Given the description of an element on the screen output the (x, y) to click on. 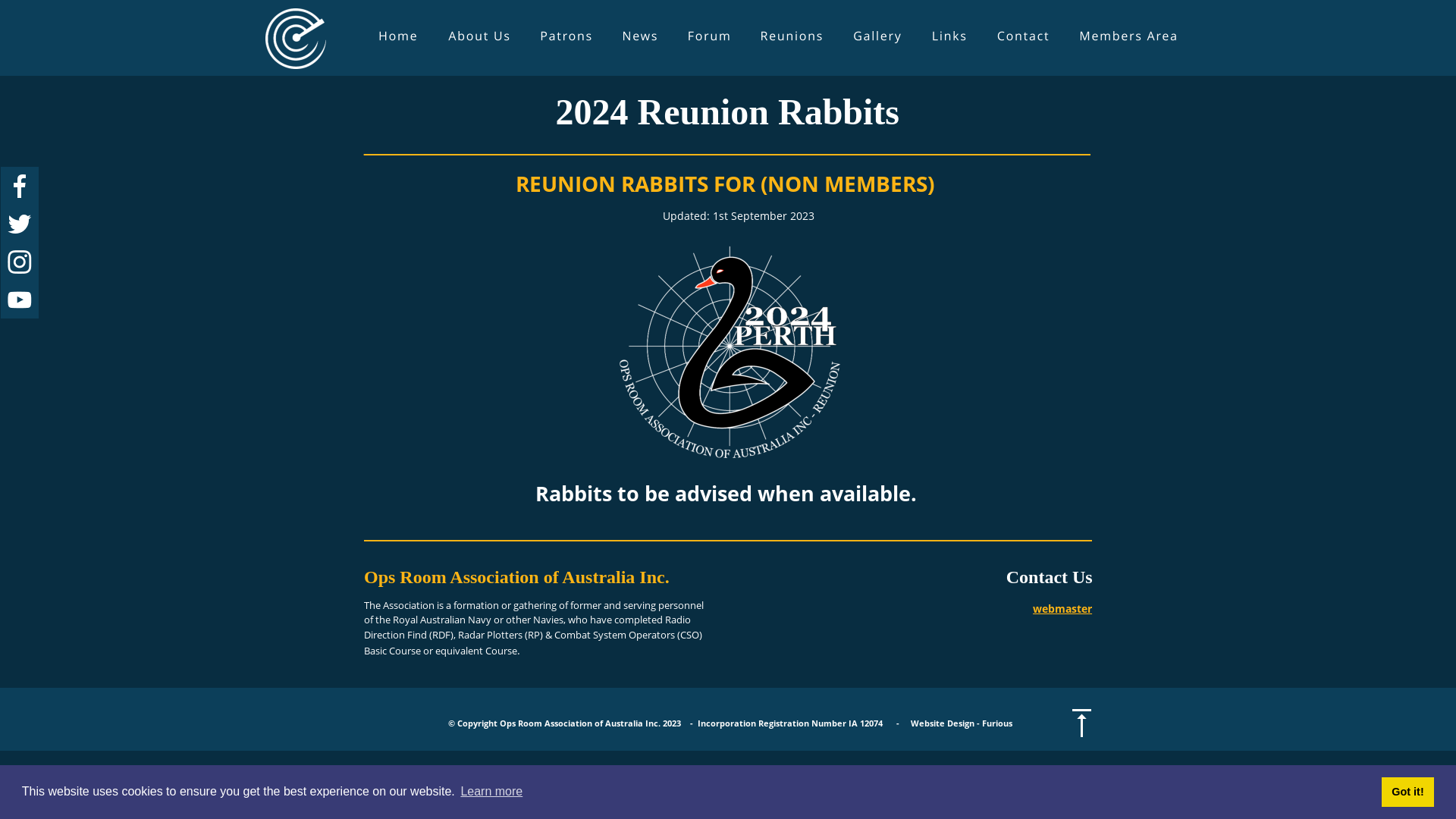
Got it! Element type: text (1407, 791)
Learn more Element type: text (491, 791)
webmaster Element type: text (1062, 608)
